Given the description of an element on the screen output the (x, y) to click on. 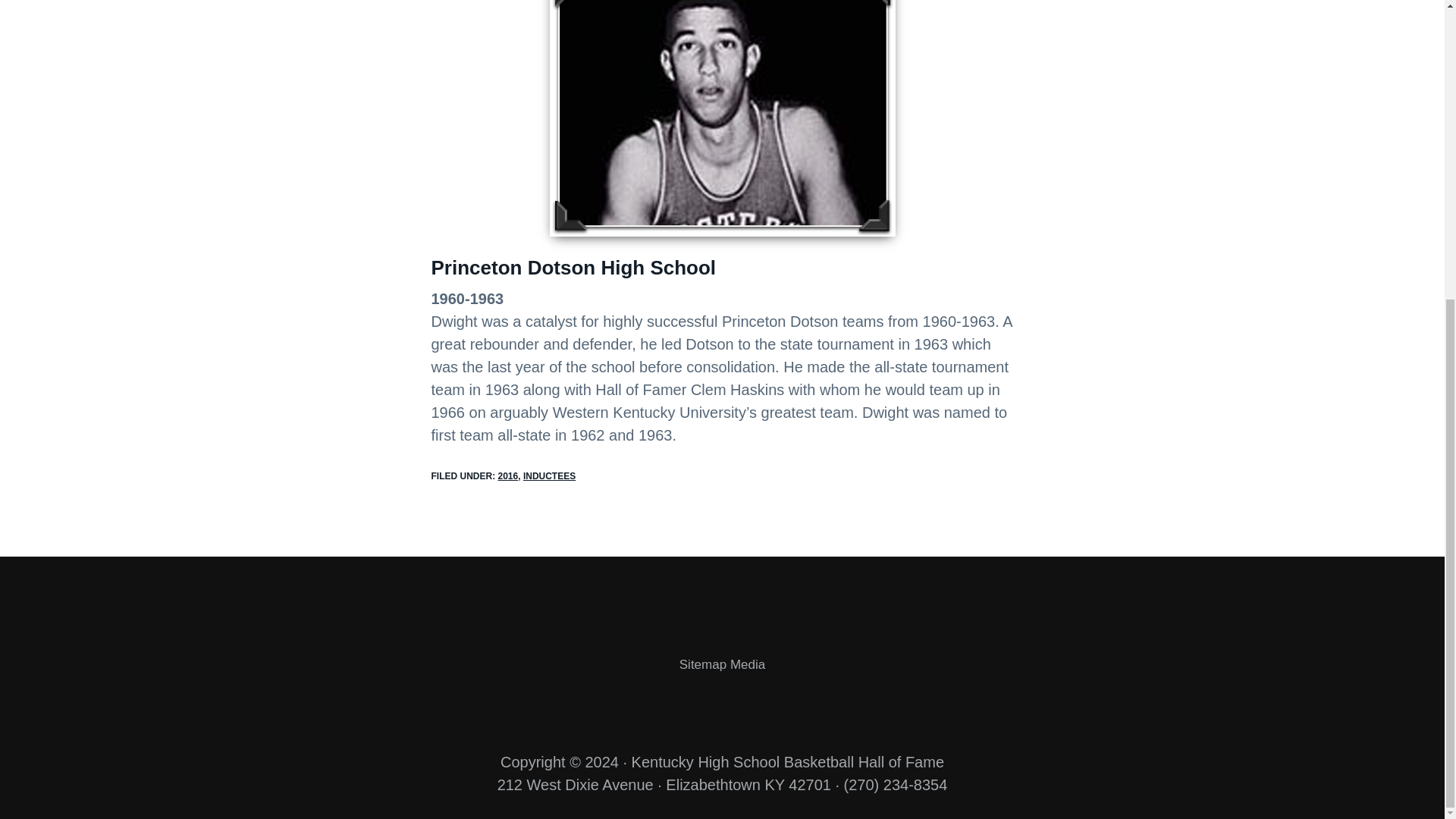
Media (747, 664)
INDUCTEES (548, 475)
Sitemap (702, 664)
2016 (507, 475)
